Given the description of an element on the screen output the (x, y) to click on. 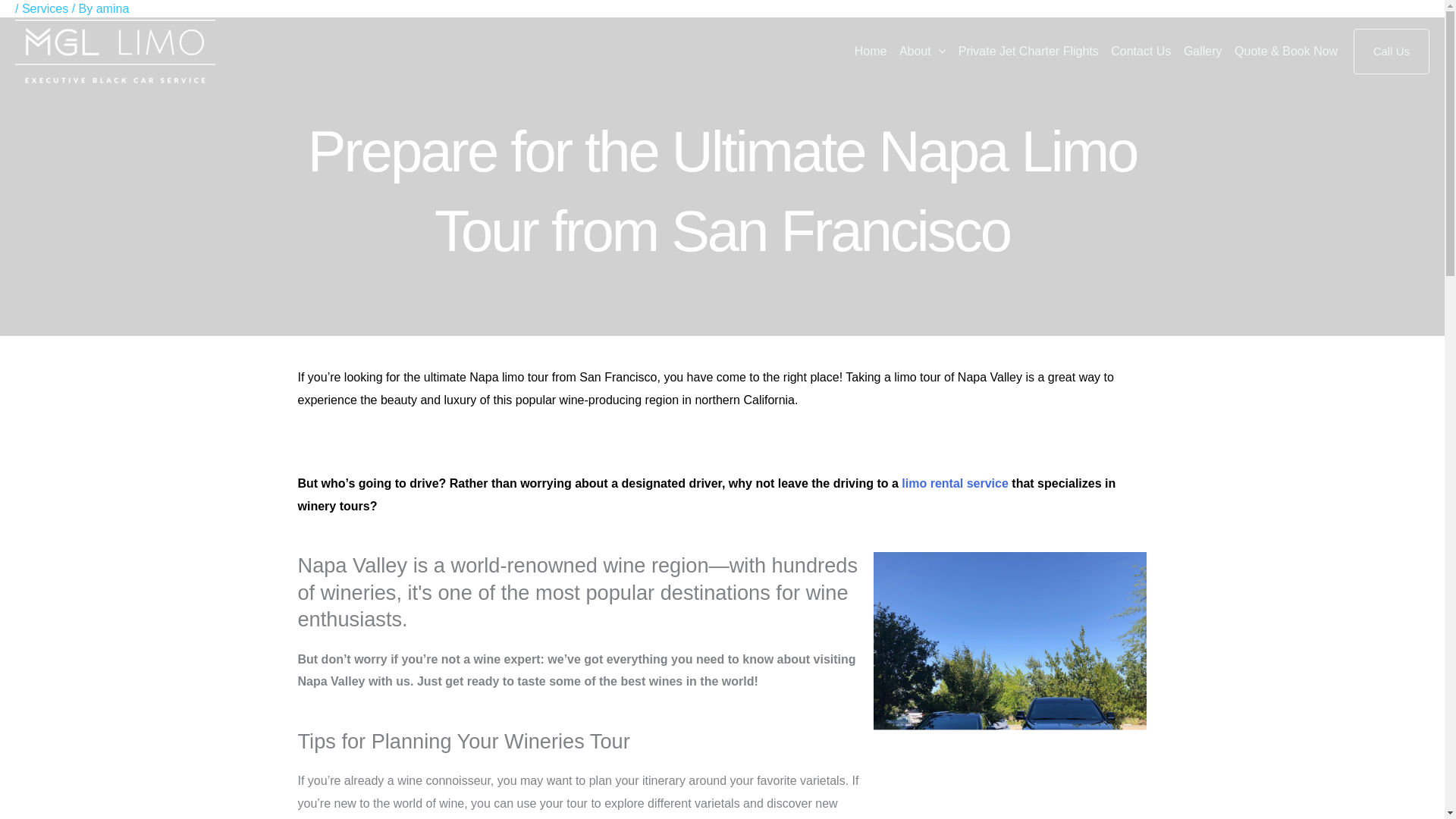
limo rental service (955, 482)
Private Jet Charter Flights (1022, 51)
Contact Us (1135, 51)
Services (44, 8)
About (916, 51)
Gallery (1197, 51)
View all posts by amina (112, 8)
amina (112, 8)
Call Us (1391, 51)
